Given the description of an element on the screen output the (x, y) to click on. 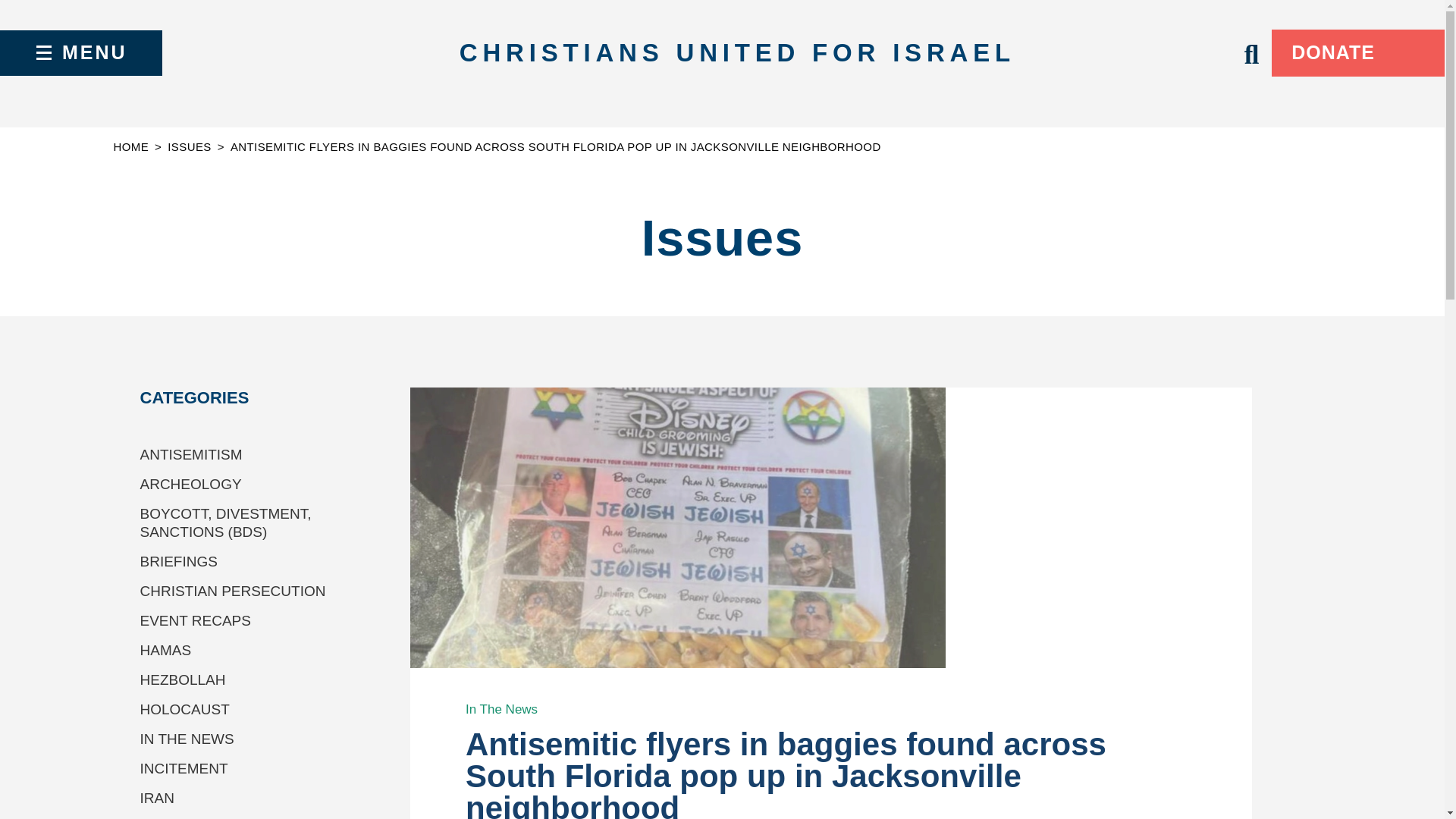
MENU (80, 53)
